Given the description of an element on the screen output the (x, y) to click on. 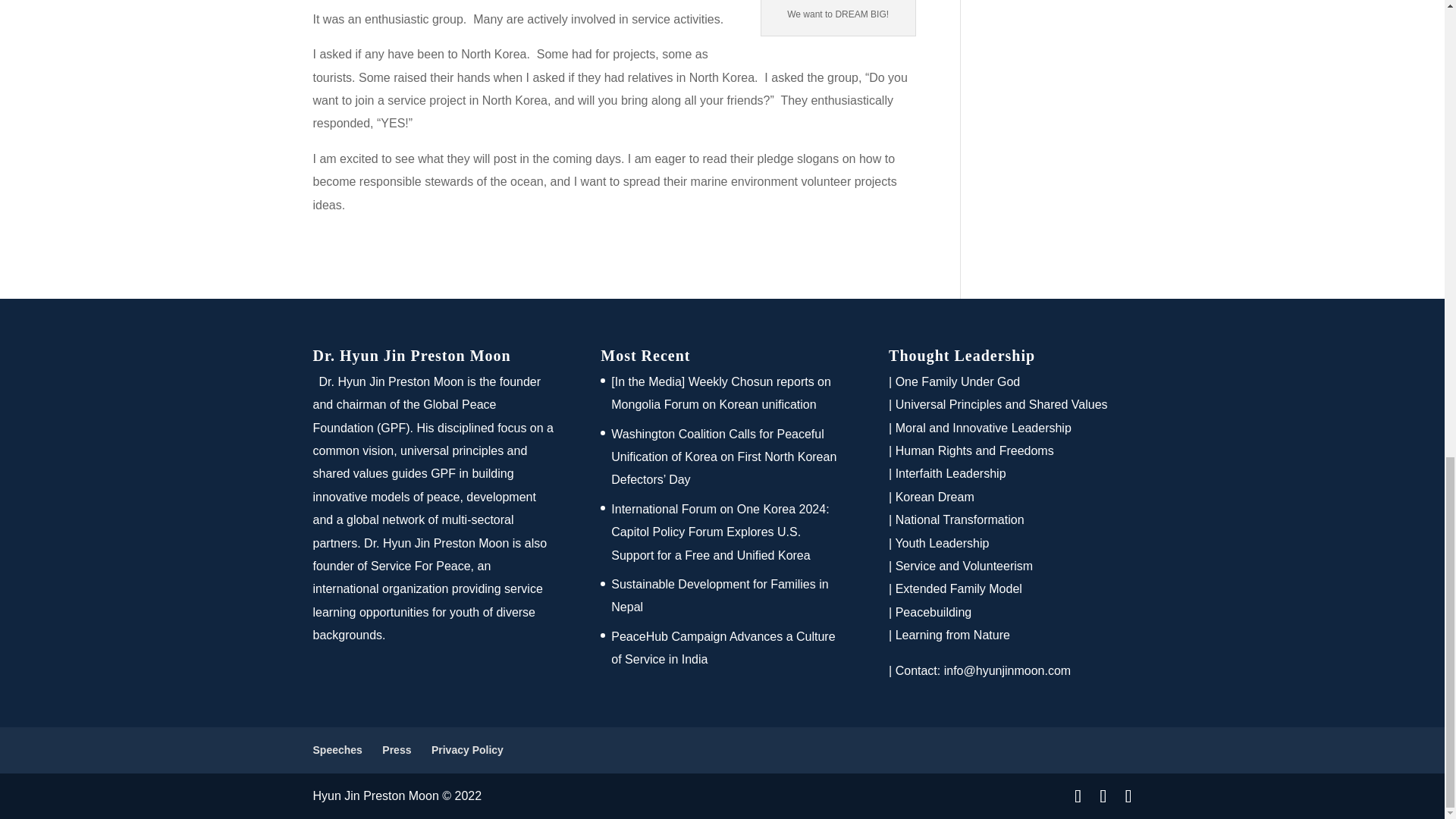
Service and Volunteerism (963, 565)
National Transformation (960, 519)
Universal Principles and Shared Values (1001, 404)
PeaceHub Campaign Advances a Culture of Service in India (722, 647)
Interfaith Leadership (950, 472)
Sustainable Development for Families in Nepal (719, 595)
One Family Under God (957, 381)
Moral and Innovative Leadership (983, 427)
Human Rights and Freedoms (974, 450)
Youth Leadership (941, 543)
